Given the description of an element on the screen output the (x, y) to click on. 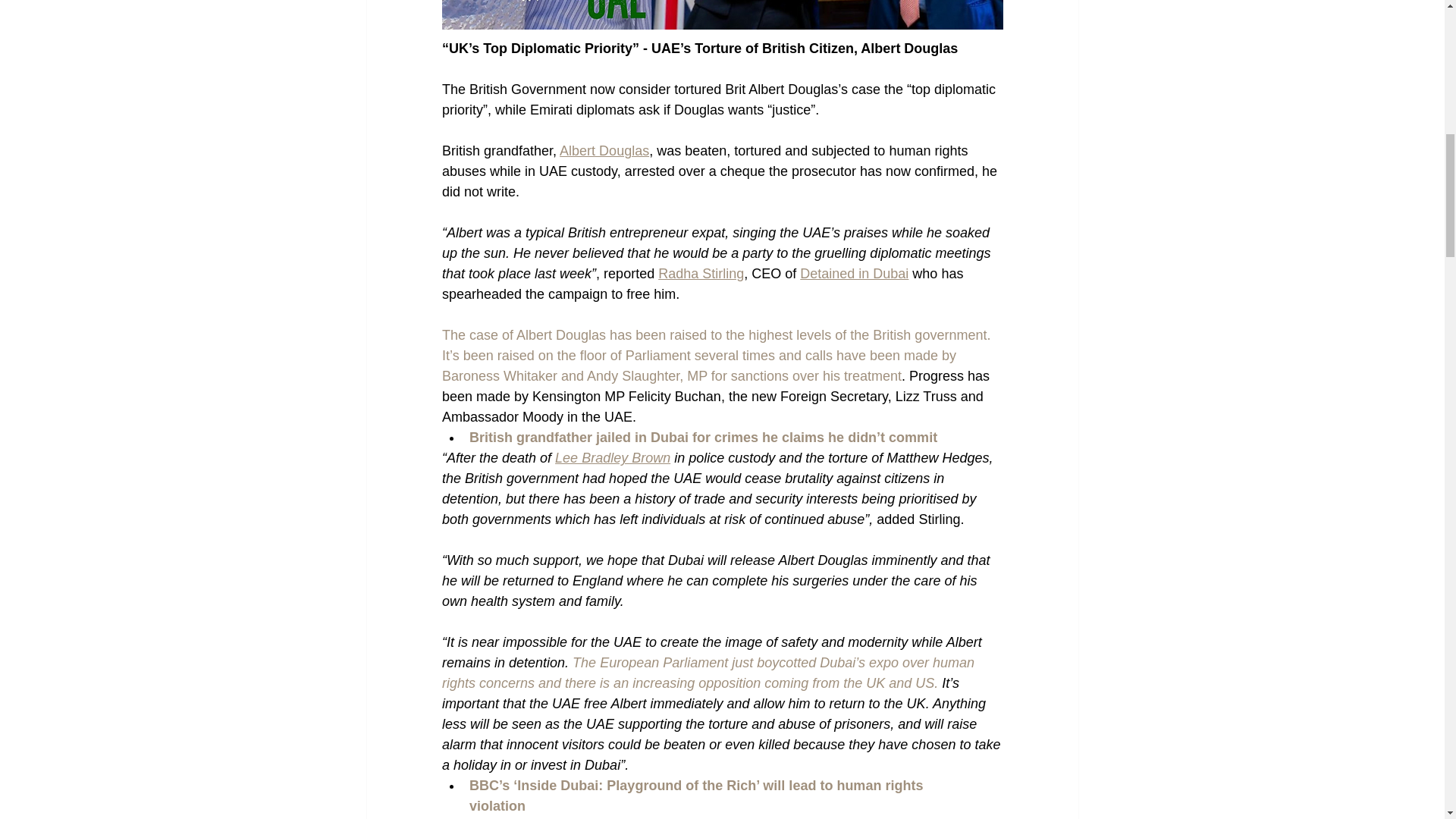
Radha Stirling (701, 273)
Albert Douglas (604, 150)
Detained in Dubai (853, 273)
